Given the description of an element on the screen output the (x, y) to click on. 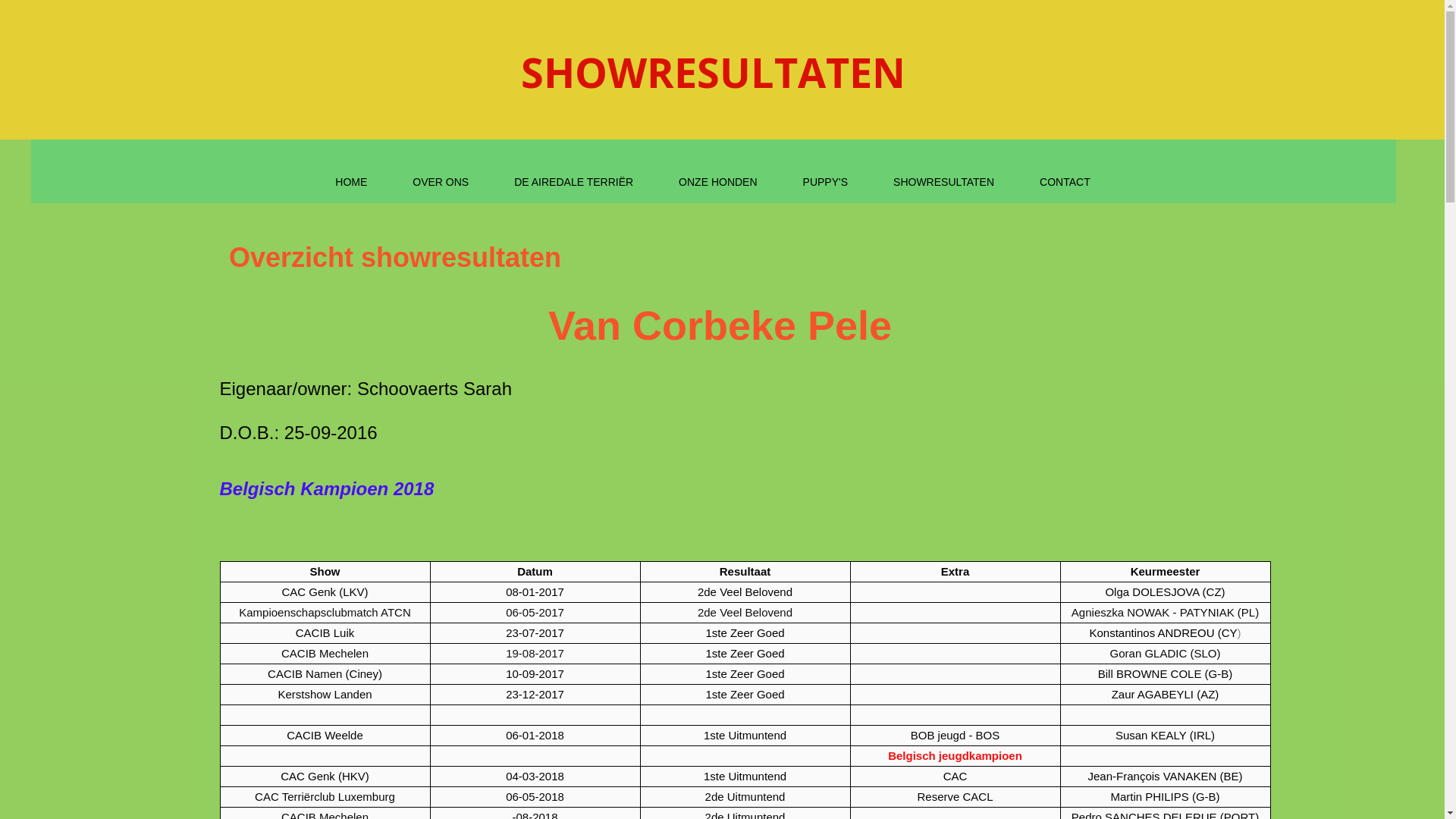
OVER ONS Element type: text (440, 182)
HOME Element type: text (350, 182)
PUPPY'S Element type: text (825, 182)
Overzicht showresultaten Element type: text (395, 263)
CONTACT Element type: text (1064, 182)
SHOWRESULTATEN Element type: text (943, 182)
ONZE HONDEN Element type: text (717, 182)
